Given the description of an element on the screen output the (x, y) to click on. 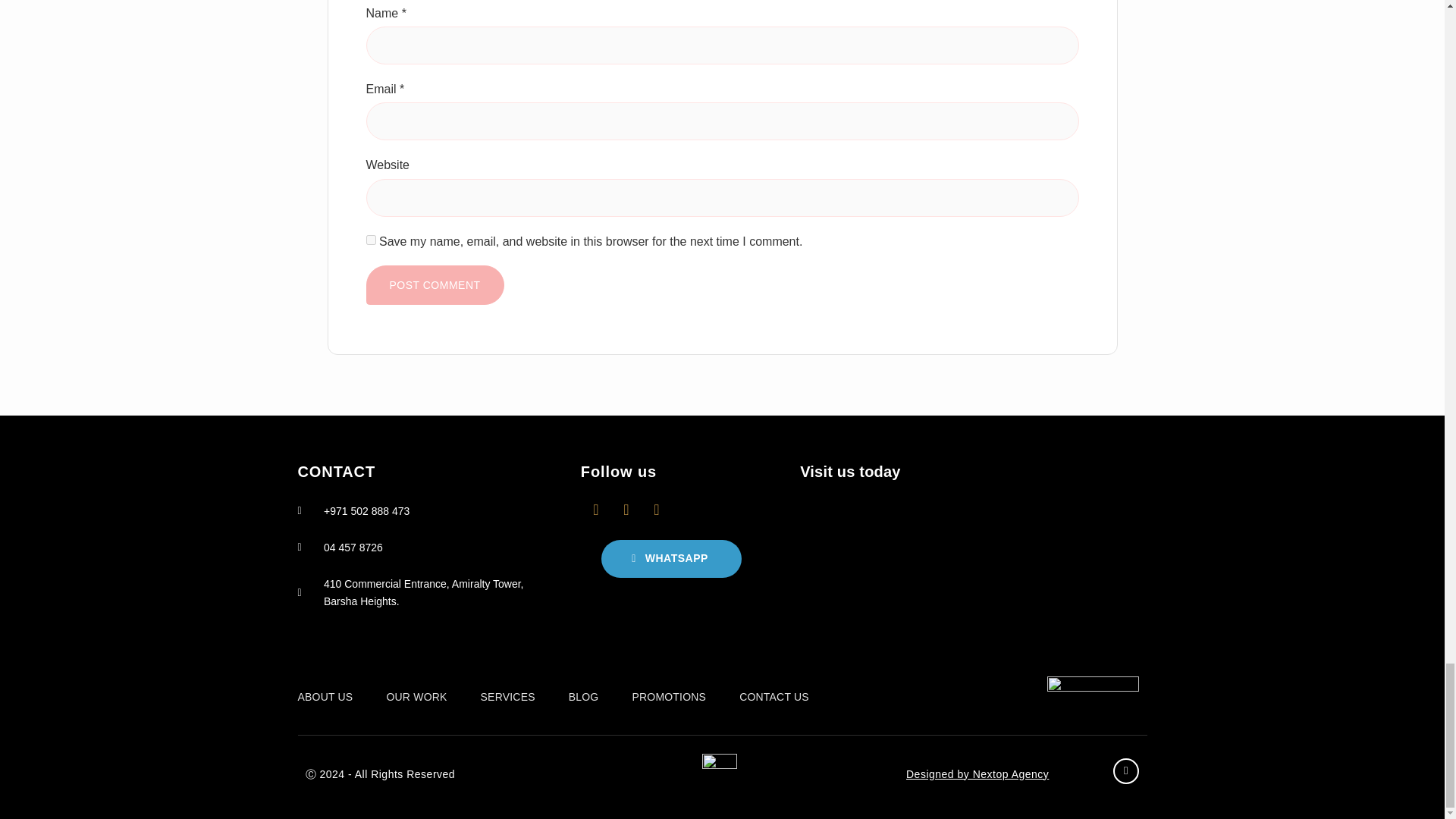
yes (370, 239)
glare ladies beauty salon bxb (971, 572)
Post Comment (434, 284)
